Given the description of an element on the screen output the (x, y) to click on. 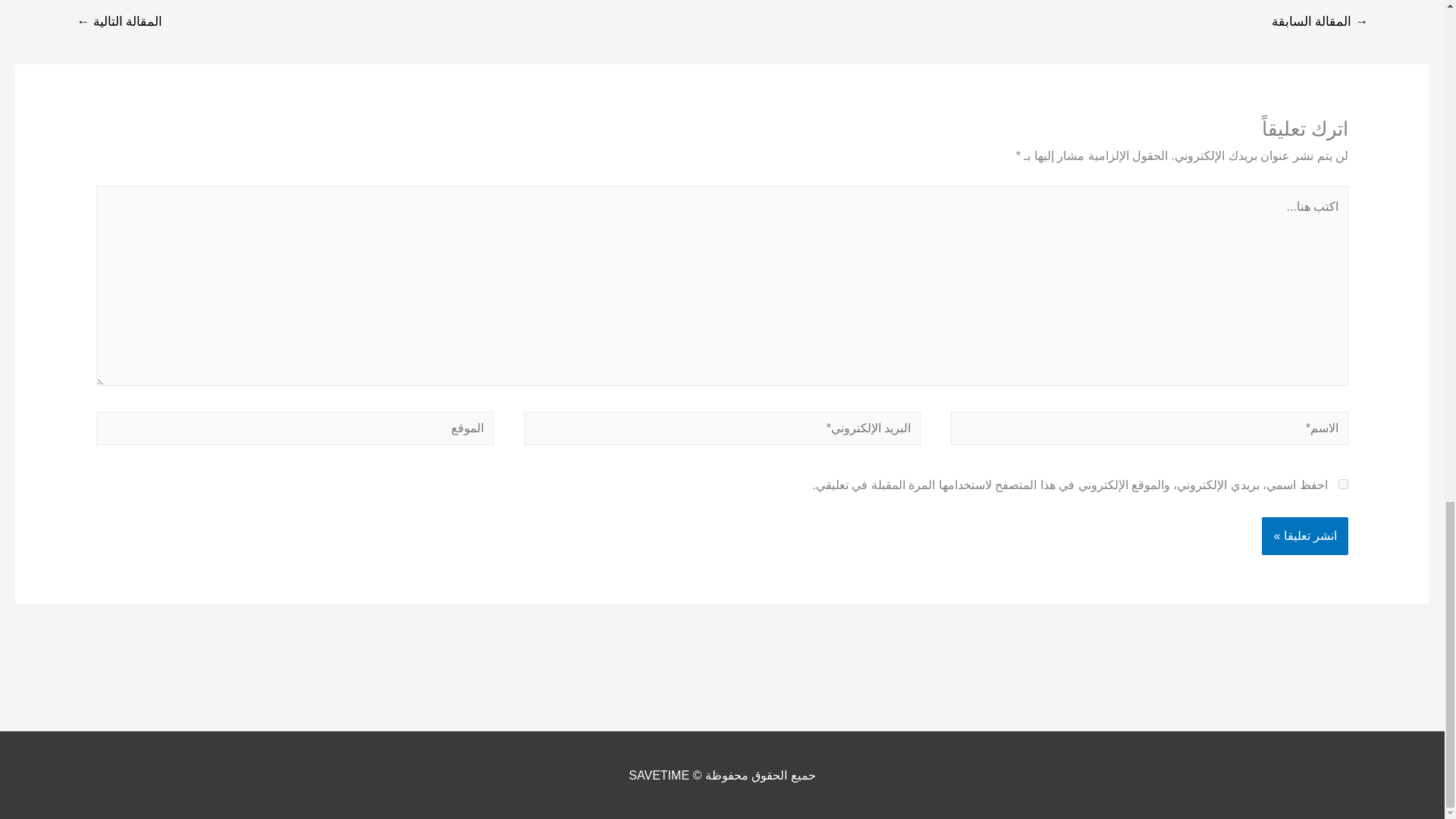
yes (1343, 483)
